Given the description of an element on the screen output the (x, y) to click on. 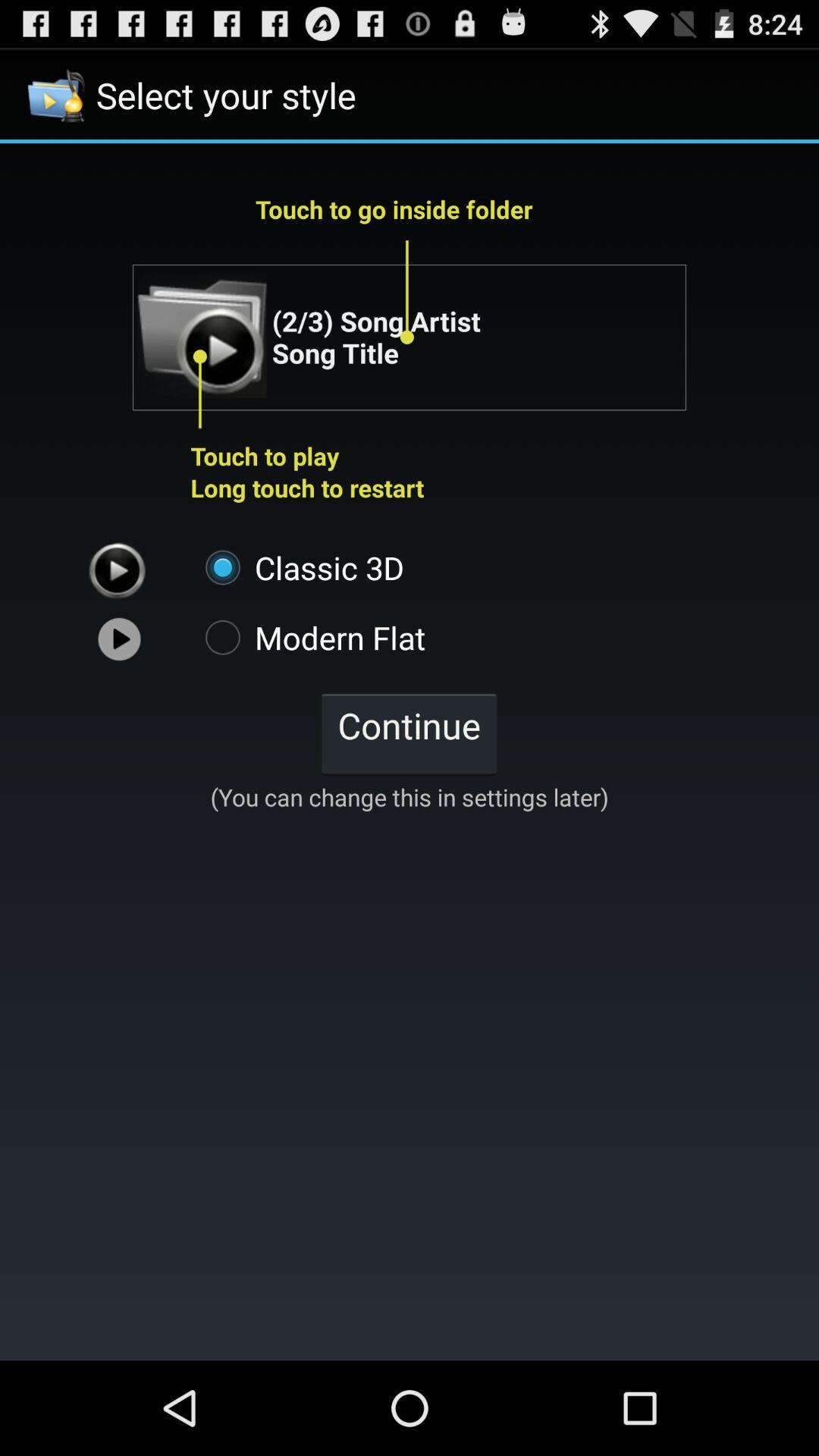
press the modern flat icon (308, 637)
